Given the description of an element on the screen output the (x, y) to click on. 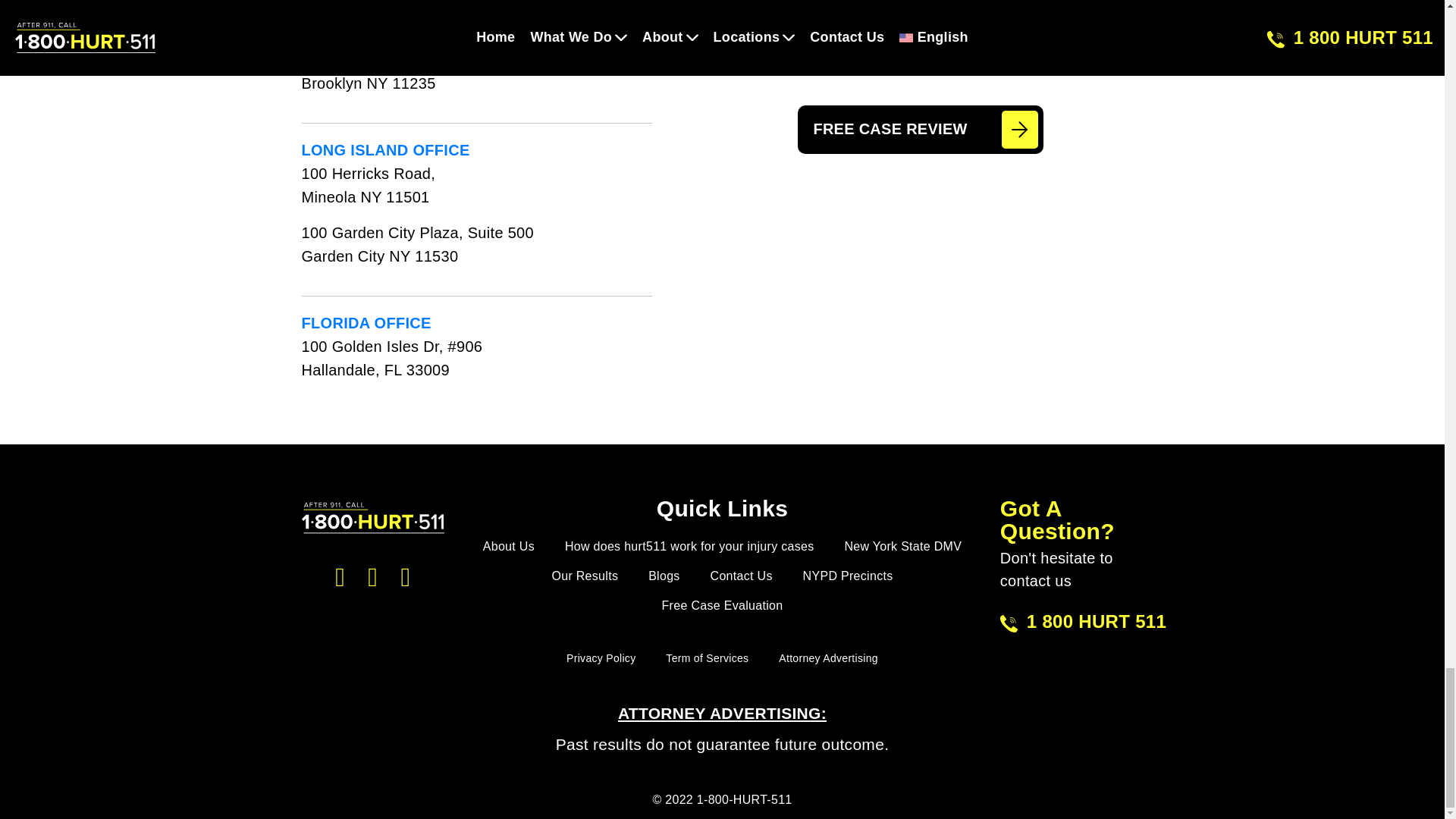
Free Case Review (919, 129)
